Given the description of an element on the screen output the (x, y) to click on. 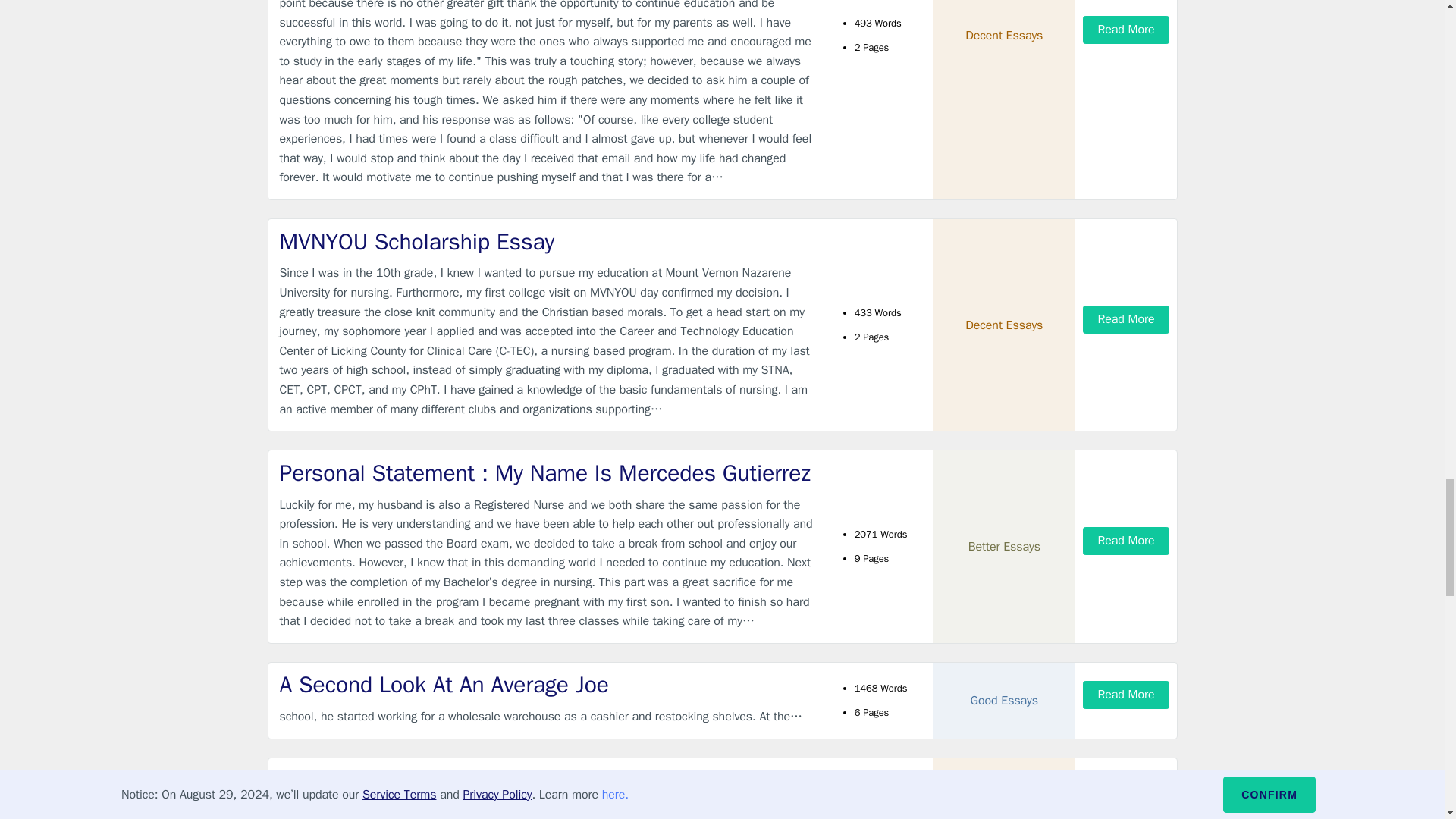
Read More (1126, 29)
